Given the description of an element on the screen output the (x, y) to click on. 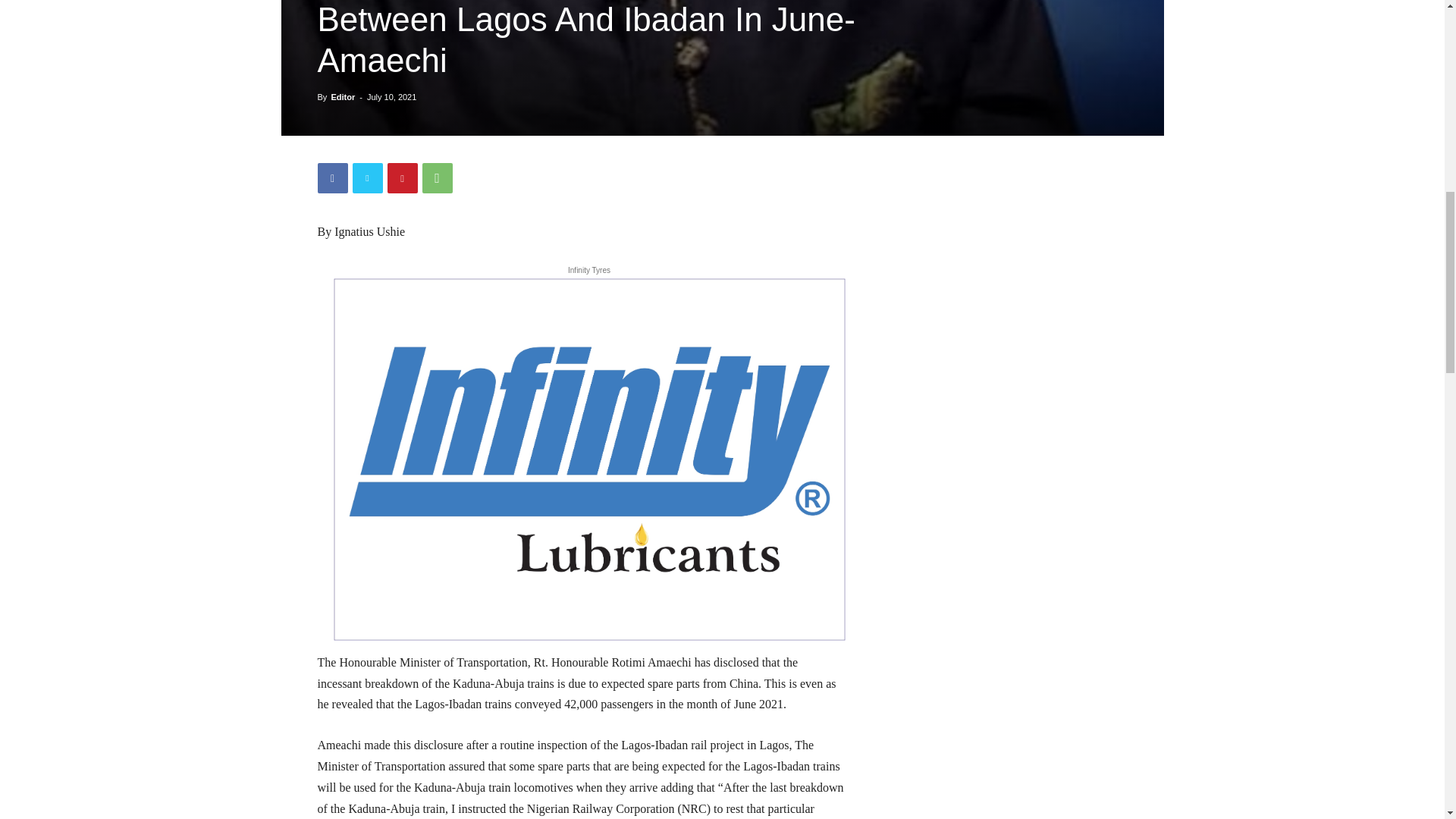
Facebook (332, 177)
AMAECHI ROTIMI (722, 67)
